Given the description of an element on the screen output the (x, y) to click on. 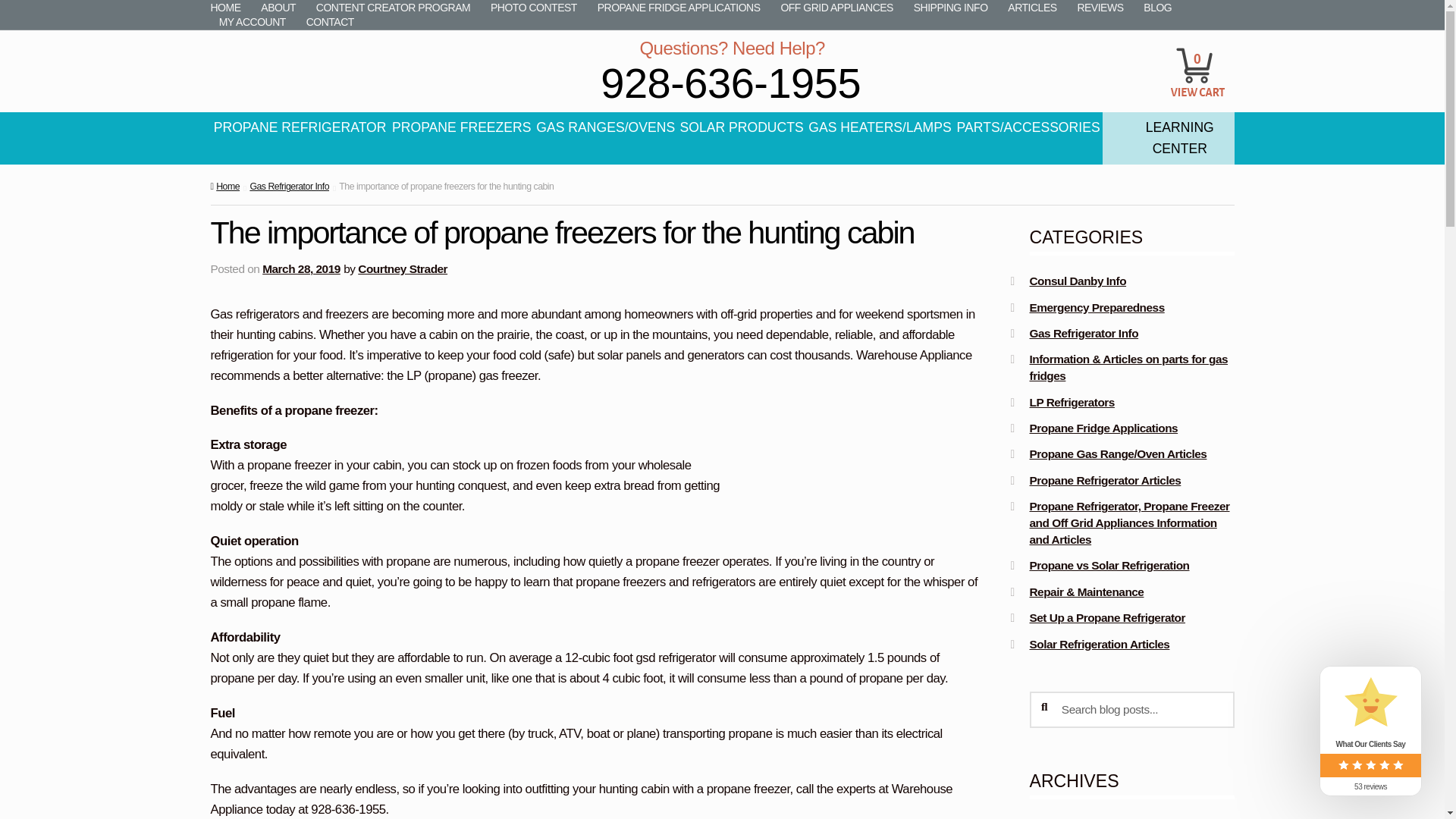
ARTICLES (1031, 7)
CONTENT CREATOR PROGRAM (393, 7)
View your shopping cart (1198, 51)
REVIEWS (1100, 7)
PROPANE FRIDGE APPLICATIONS (678, 7)
HOME (229, 7)
SHIPPING INFO (950, 7)
OFF GRID APPLIANCES (836, 7)
PHOTO CONTEST (533, 7)
ABOUT (277, 7)
